Given the description of an element on the screen output the (x, y) to click on. 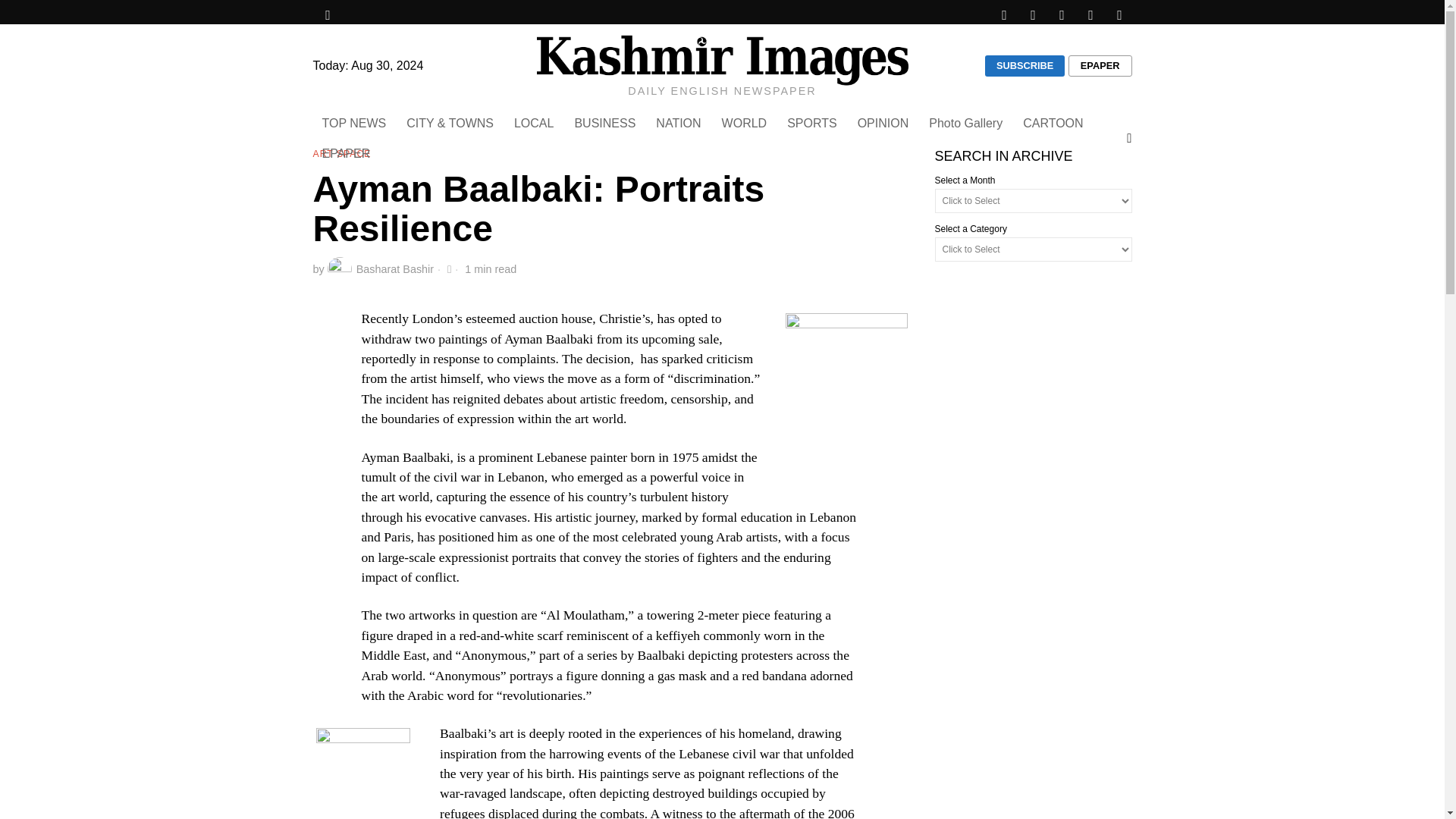
BUSINESS (605, 123)
WORLD (745, 123)
CARTOON (1053, 123)
TOP NEWS (355, 123)
EPAPER (1100, 65)
ART SPACE (342, 155)
LOCAL (534, 123)
Photo Gallery (966, 123)
NATION (678, 123)
OPINION (884, 123)
